Given the description of an element on the screen output the (x, y) to click on. 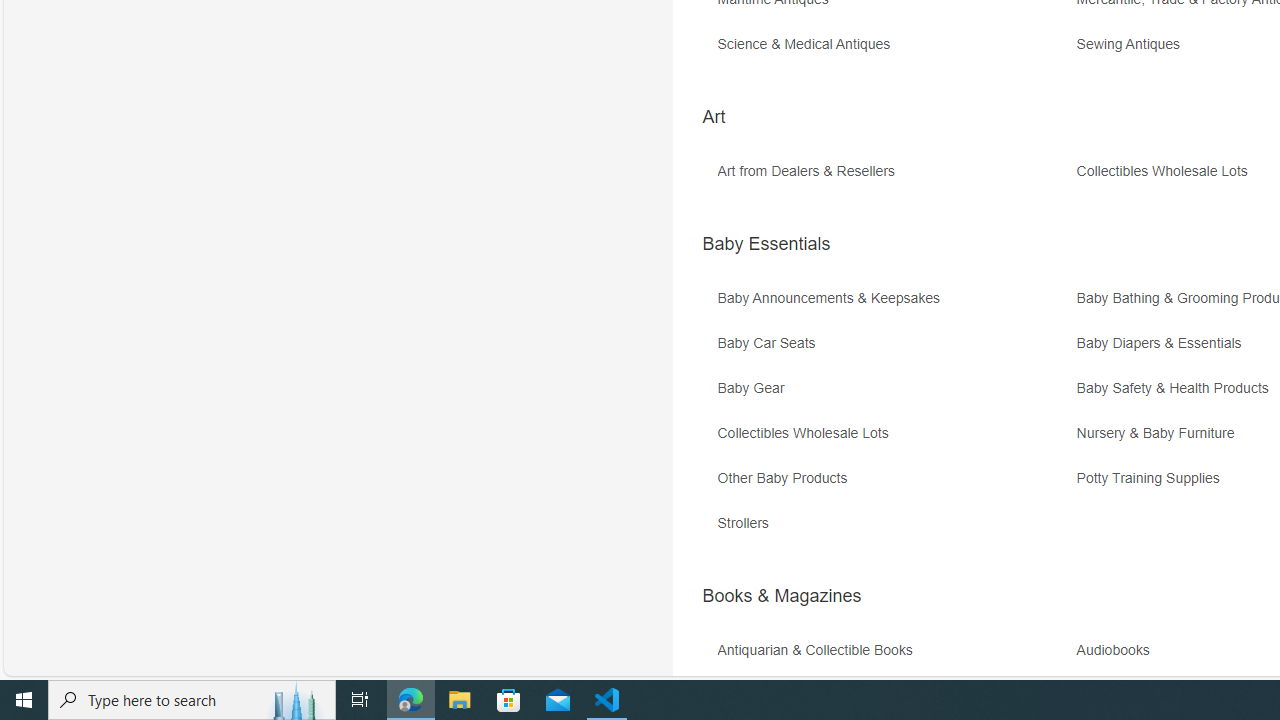
Audiobooks (1117, 650)
Other Baby Products (894, 485)
Baby Car Seats (770, 343)
Baby Diapers & Essentials (1163, 343)
Baby Gear (894, 395)
Other Baby Products (786, 478)
Books & Magazines (781, 596)
Nursery & Baby Furniture (1160, 433)
Art (713, 116)
Baby Car Seats (894, 349)
Baby Essentials (765, 244)
Collectibles Wholesale Lots (807, 433)
Baby Safety & Health Products (1177, 388)
Antiquarian & Collectible Books (819, 650)
Science & Medical Antiques (894, 51)
